Given the description of an element on the screen output the (x, y) to click on. 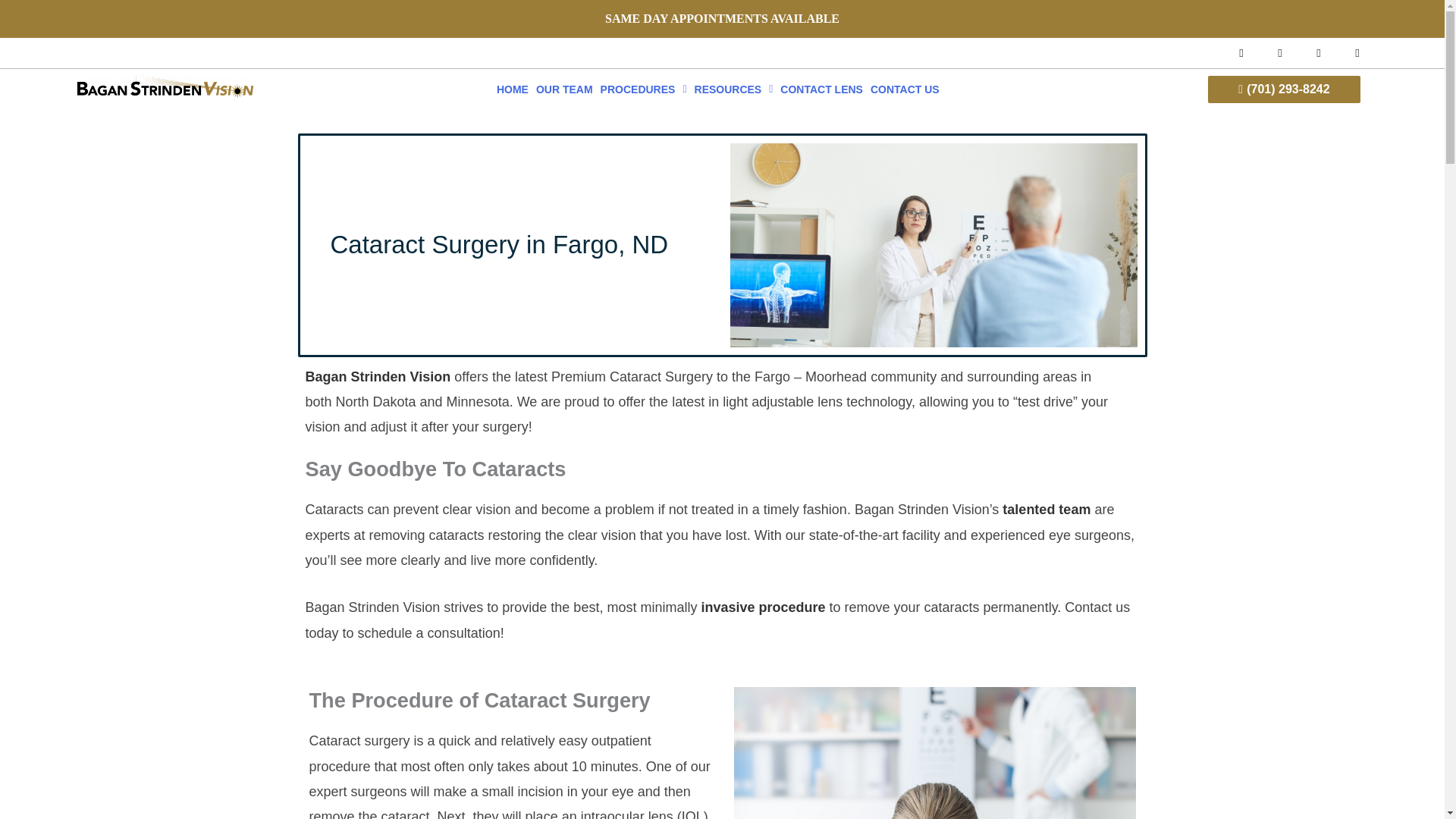
RESOURCES (733, 89)
OUR TEAM (564, 89)
HOME (512, 89)
PROCEDURES (643, 89)
CONTACT US (904, 89)
CONTACT LENS (821, 89)
